Given the description of an element on the screen output the (x, y) to click on. 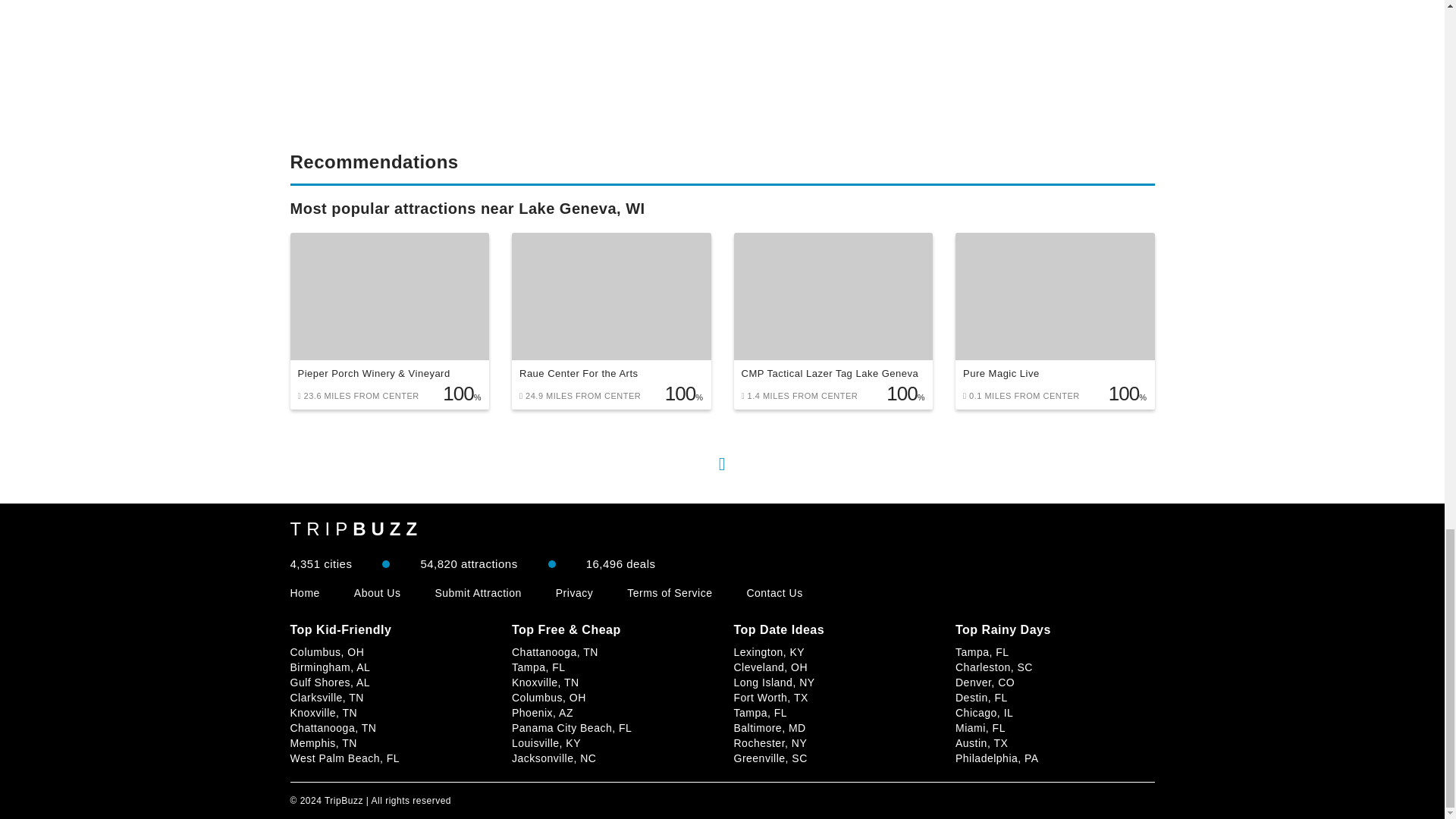
About (377, 592)
Terms of Service (669, 592)
Privacy (574, 592)
